Given the description of an element on the screen output the (x, y) to click on. 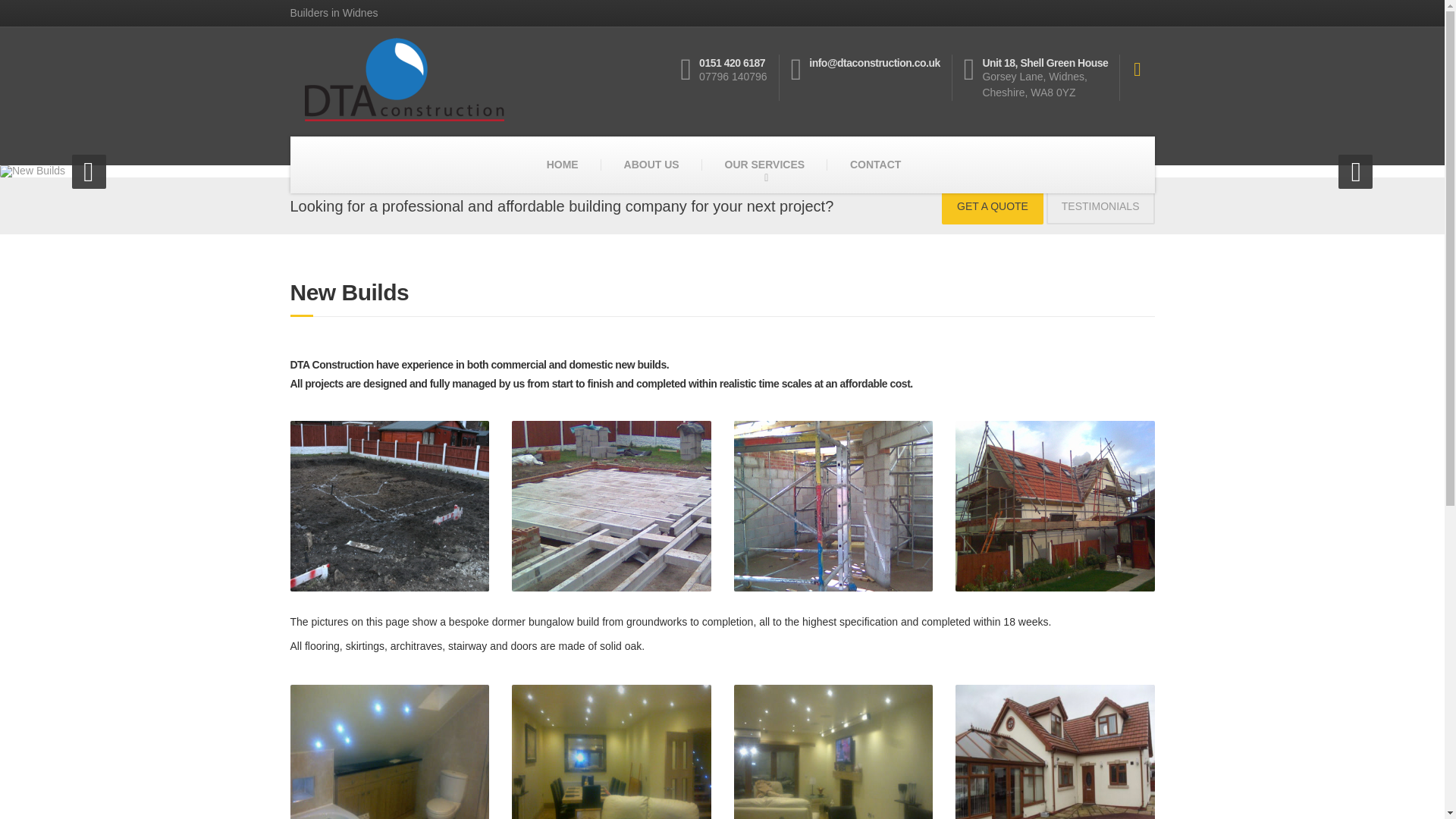
TESTIMONIALS (1100, 206)
CONTACT (875, 164)
HOME (562, 164)
ABOUT US (651, 164)
OUR SERVICES (764, 164)
GET A QUOTE (992, 206)
